Given the description of an element on the screen output the (x, y) to click on. 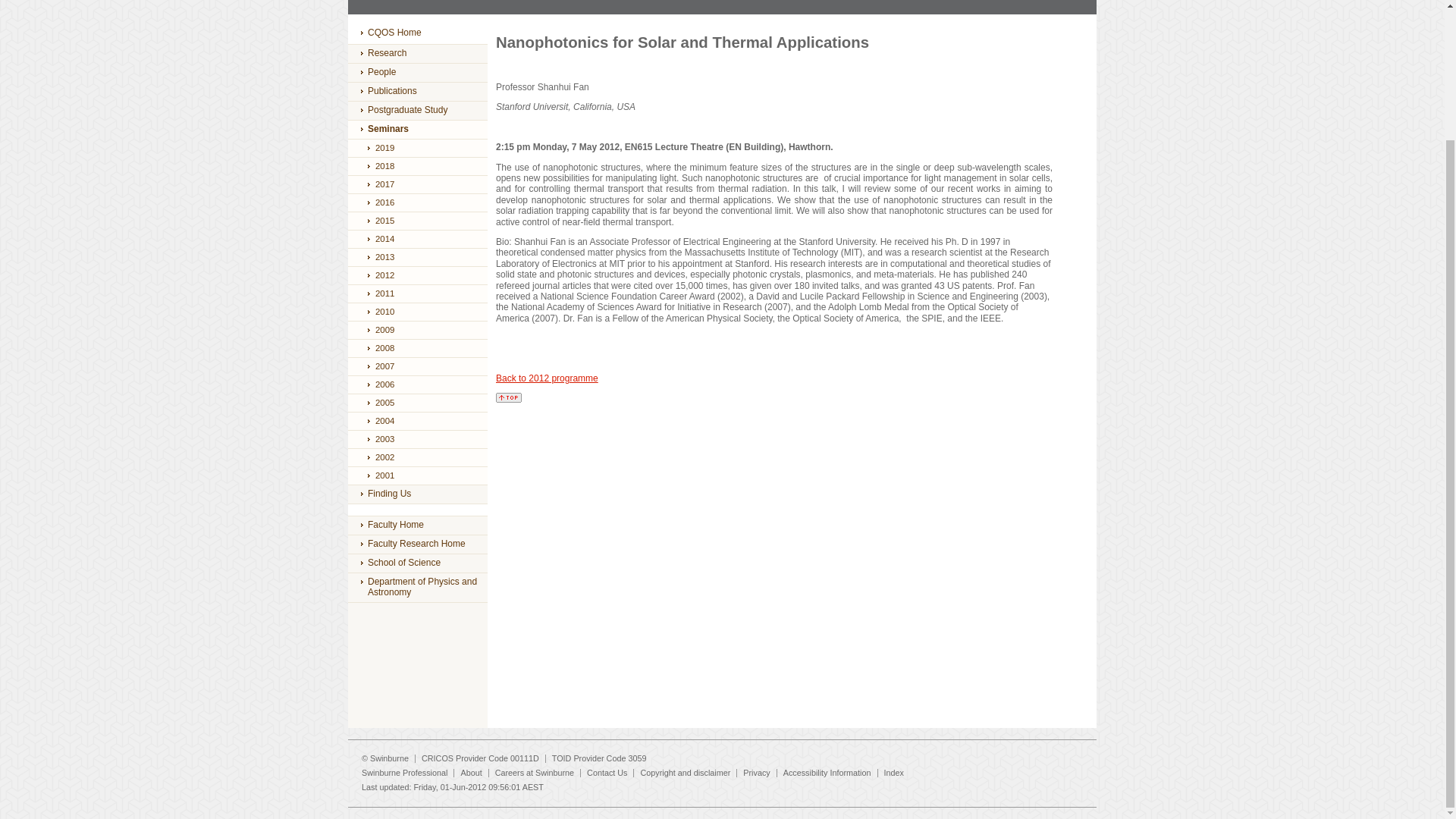
CQOS Home (417, 34)
Accessibility Information (826, 772)
Copyright and Disclaimer (685, 772)
Careers at Swinburne (534, 772)
Swinburne Contact Details (606, 772)
Swinburne Professional (403, 772)
Publications (417, 91)
Index (893, 772)
People (417, 72)
Research (417, 54)
About (470, 772)
Privacy (756, 772)
